Given the description of an element on the screen output the (x, y) to click on. 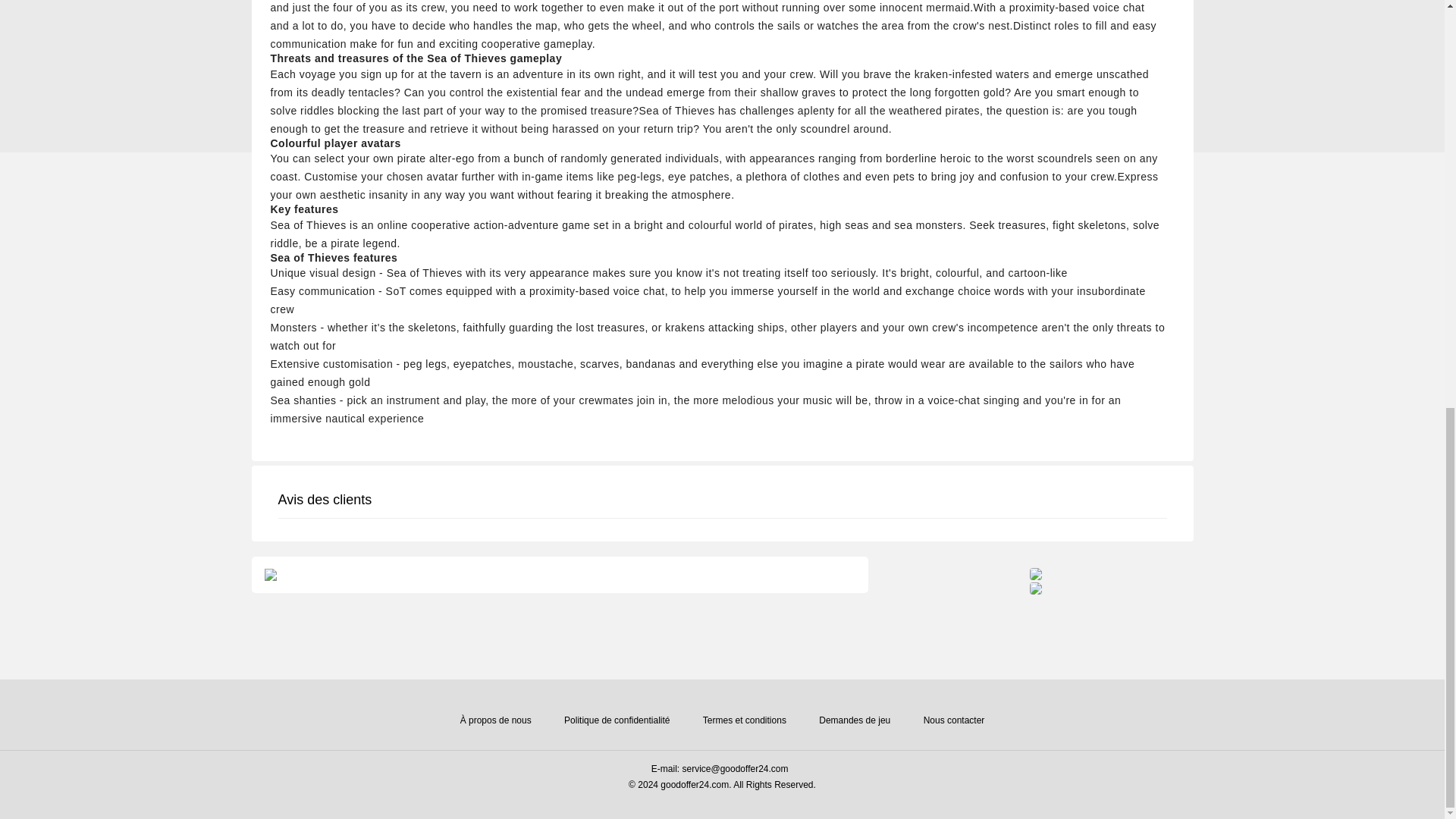
Demandes de jeu (854, 720)
Termes et conditions (744, 720)
Nous contacter (954, 720)
